Given the description of an element on the screen output the (x, y) to click on. 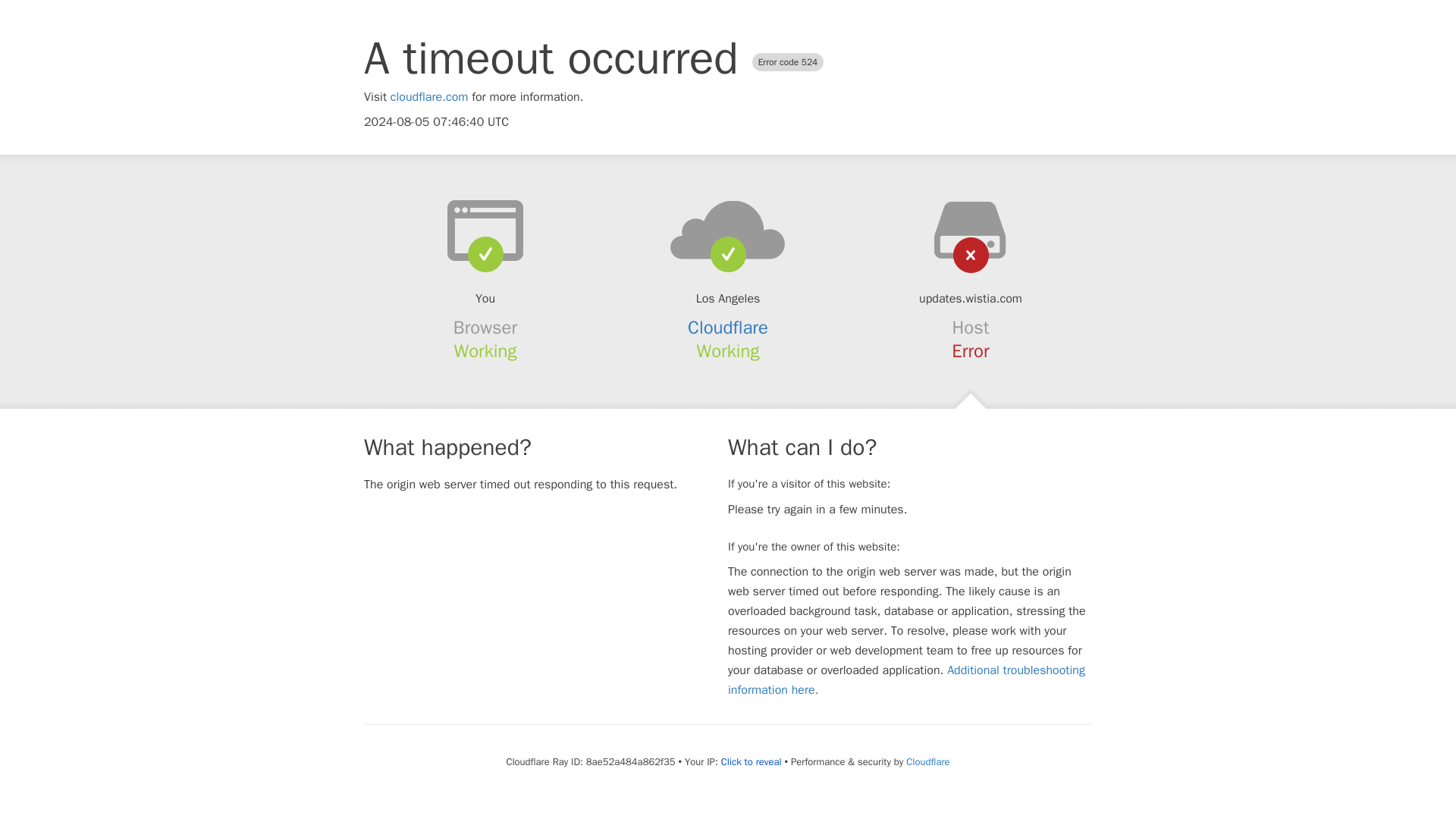
Click to reveal (750, 762)
Additional troubleshooting information here. (906, 679)
cloudflare.com (429, 96)
Cloudflare (927, 761)
Cloudflare (727, 327)
